Given the description of an element on the screen output the (x, y) to click on. 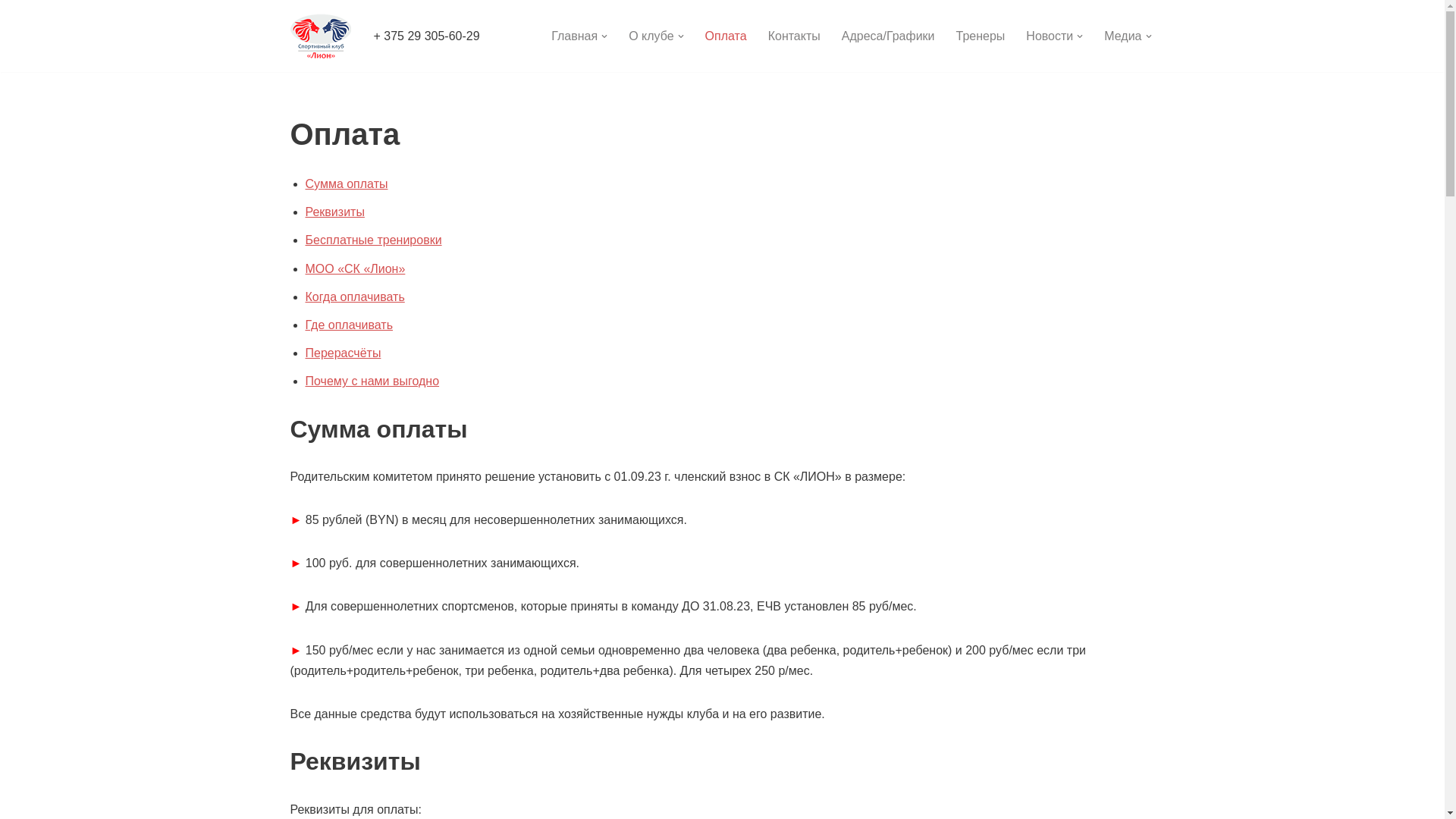
+ 375 29 305-60-29 Element type: text (426, 35)
